Given the description of an element on the screen output the (x, y) to click on. 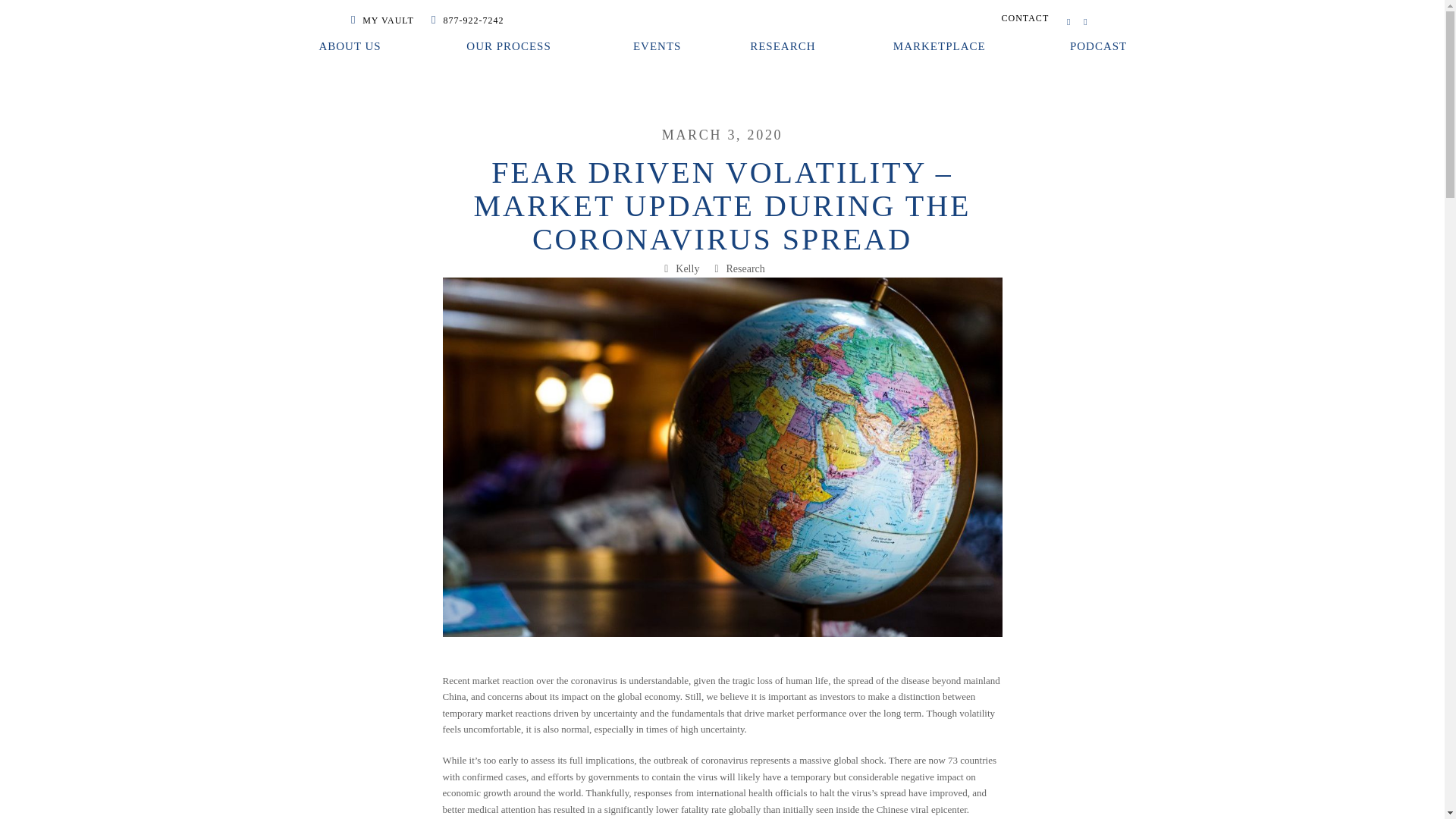
ABOUT US (350, 46)
CONTACT (1024, 18)
RESEARCH (785, 46)
Linkedin (1085, 21)
OUR PROCESS (509, 46)
MY VAULT (381, 20)
Kelly (686, 268)
877-922-7242 (466, 20)
EVENTS (656, 46)
Facebook (1068, 21)
